Given the description of an element on the screen output the (x, y) to click on. 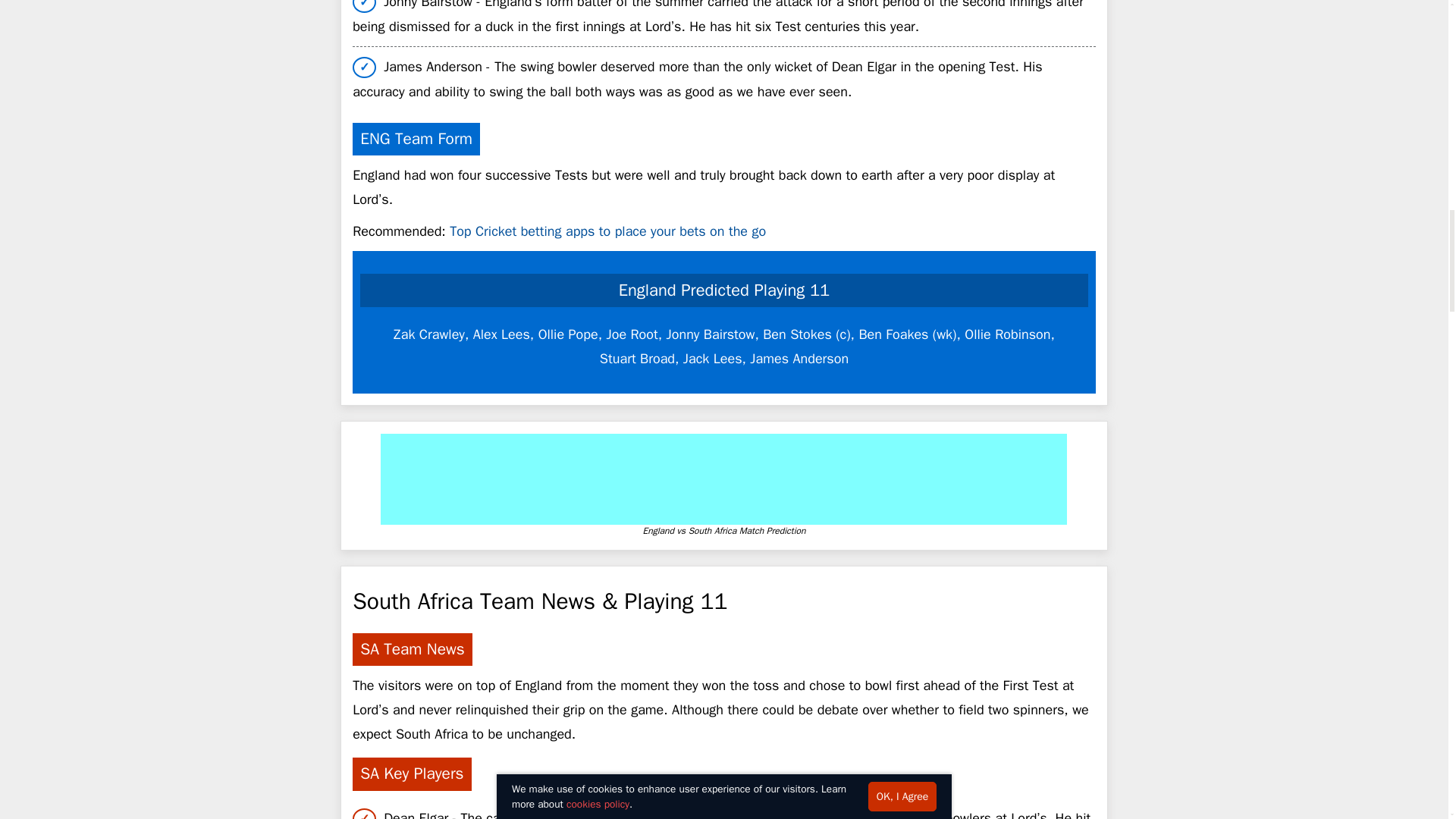
ENG vs RSA Prediction (723, 479)
Top Cricket betting apps to place your bets on the go (607, 230)
